Given the description of an element on the screen output the (x, y) to click on. 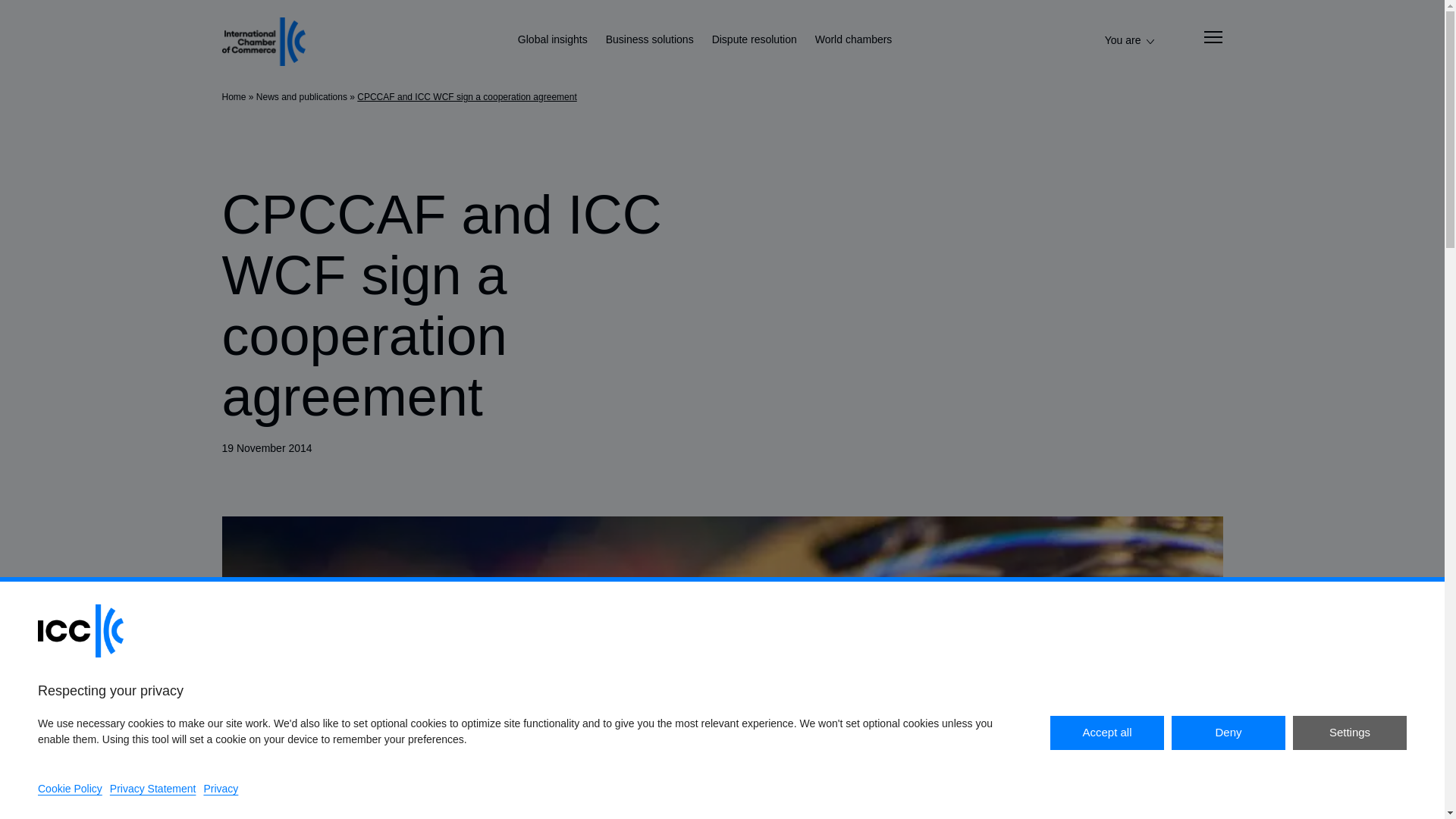
ICC - International Chamber of Commerce (262, 41)
Privacy Statement (153, 788)
Deny (1228, 732)
Accept all (1106, 732)
Privacy (220, 788)
Cookie Policy (69, 788)
Settings (1349, 732)
